Given the description of an element on the screen output the (x, y) to click on. 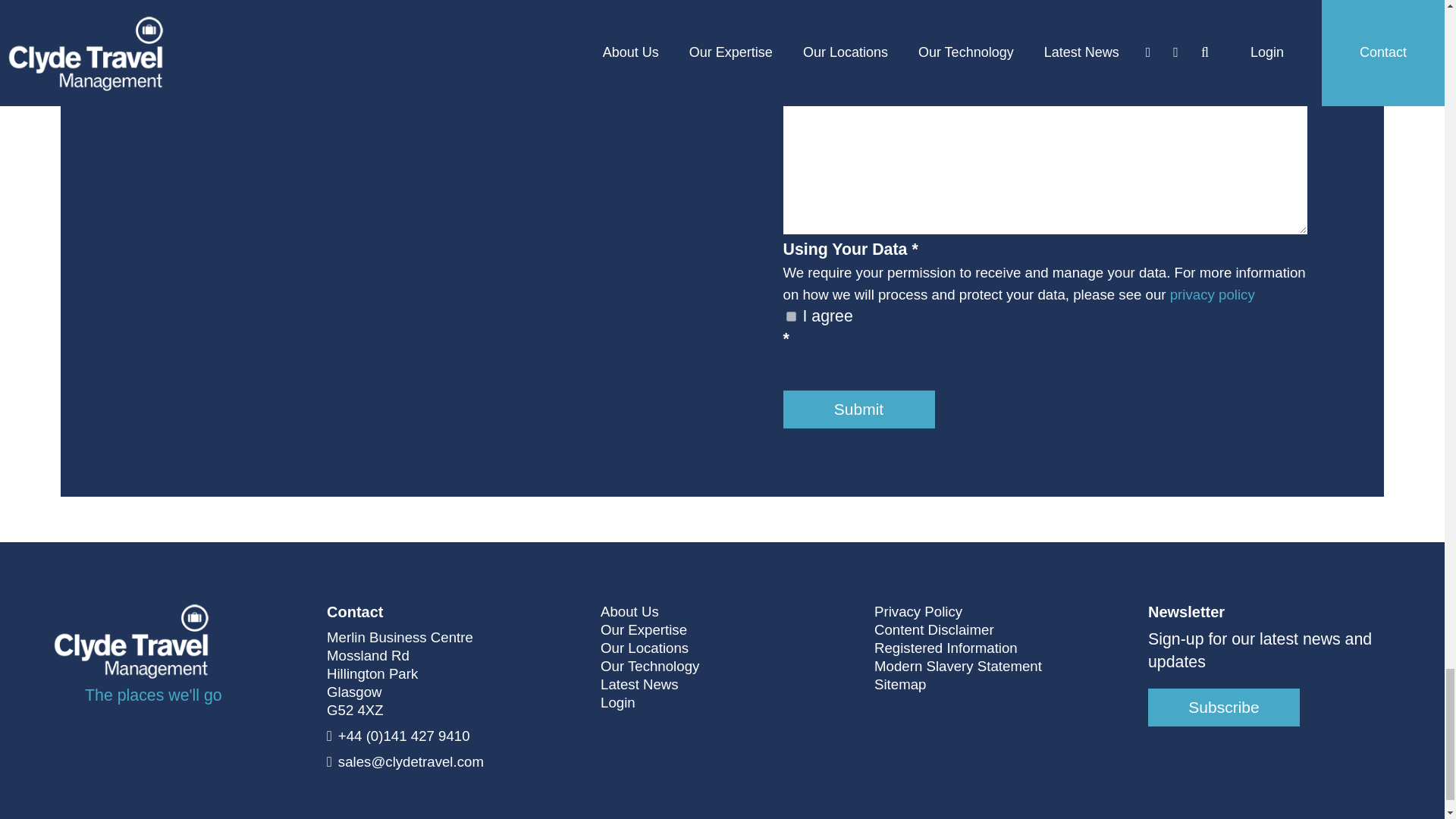
Submit (858, 409)
Our Locations (643, 648)
true (790, 316)
Our Technology (648, 666)
Submit (858, 409)
About Us (629, 611)
Our Expertise (643, 629)
privacy policy (1212, 294)
